Given the description of an element on the screen output the (x, y) to click on. 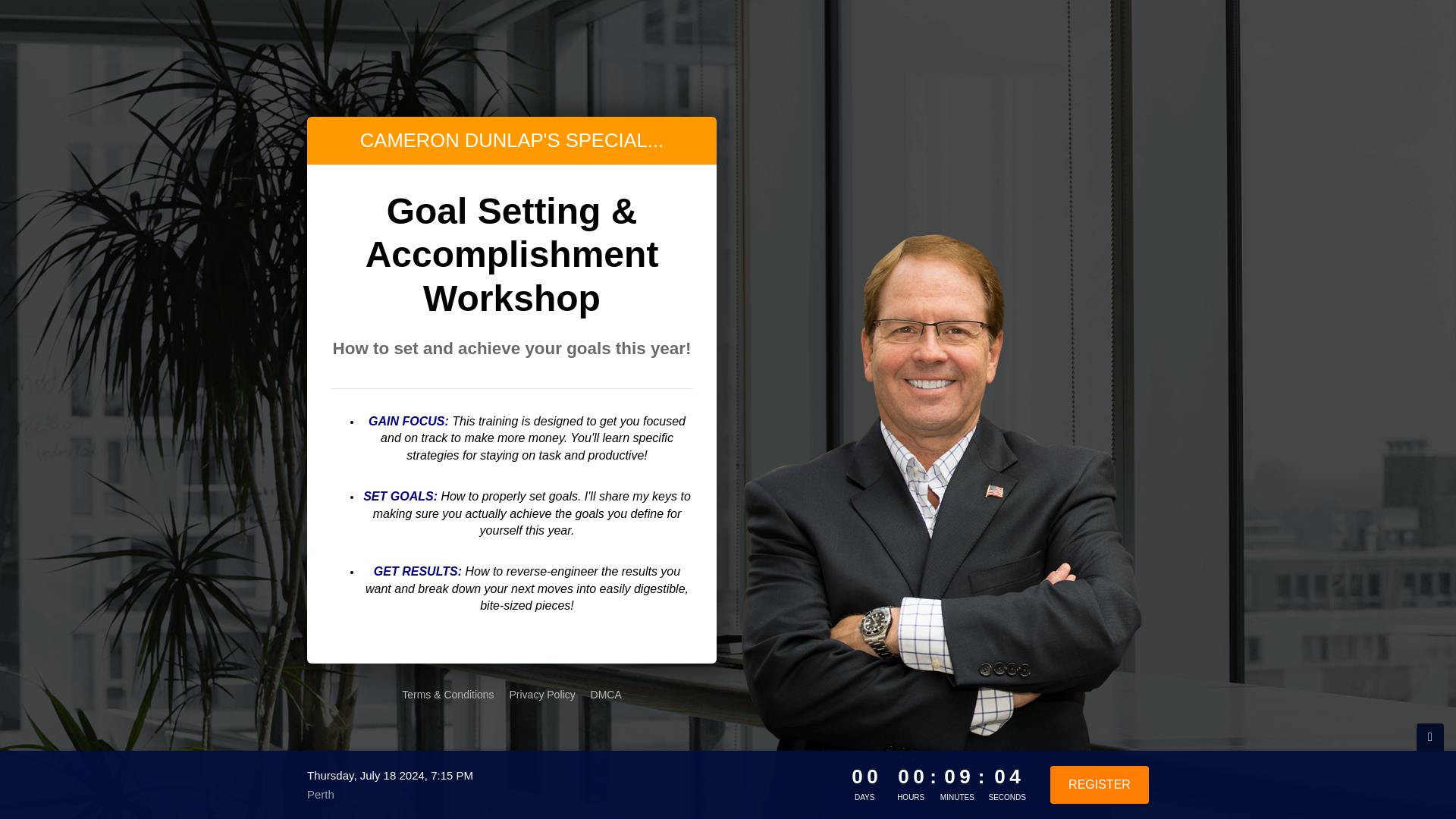
Privacy Policy (542, 694)
DMCA (606, 694)
REGISTER (1098, 784)
